Given the description of an element on the screen output the (x, y) to click on. 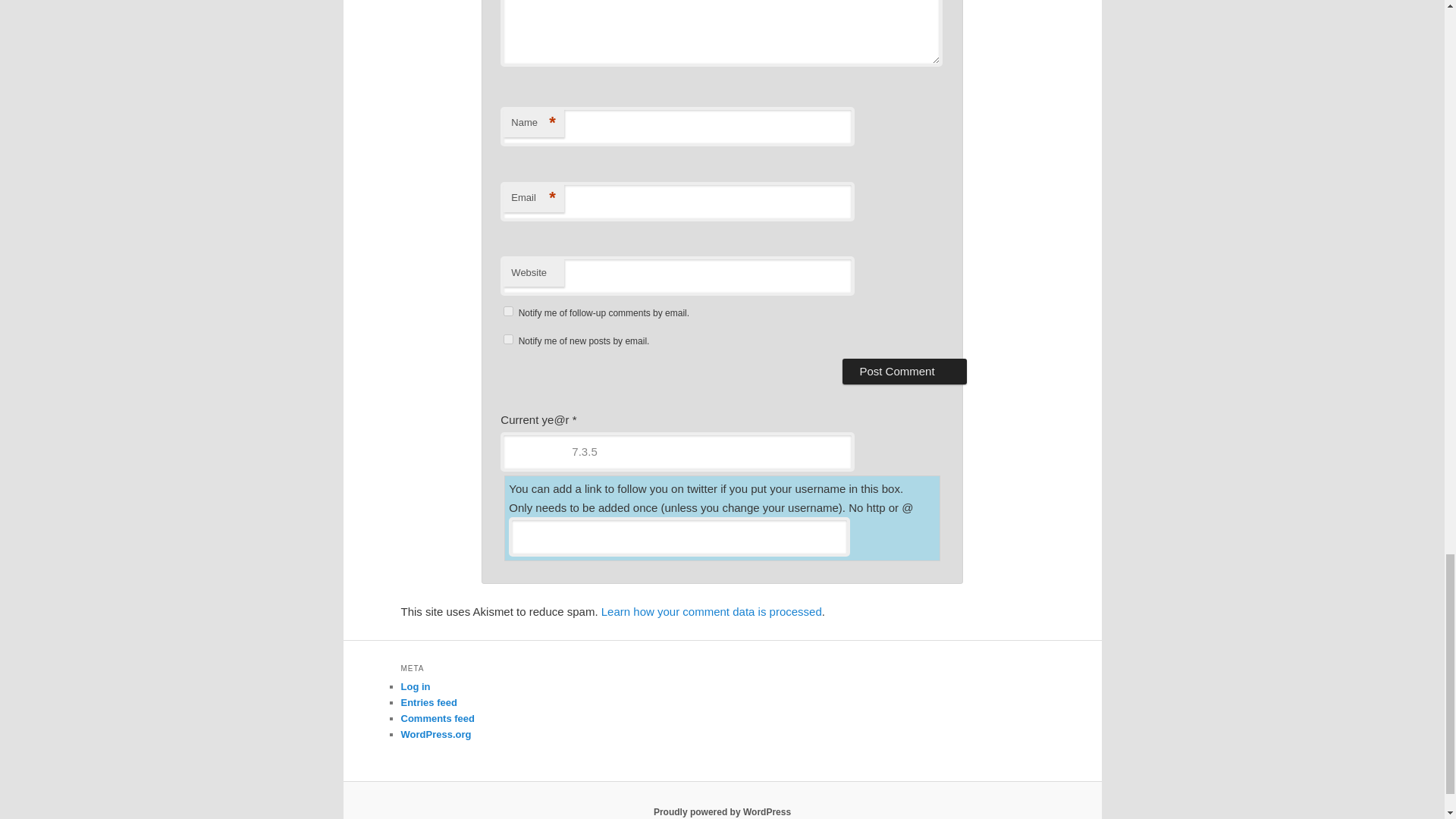
Post Comment (904, 371)
subscribe (508, 338)
Proudly powered by WordPress (721, 811)
subscribe (508, 311)
Log in (414, 686)
Learn how your comment data is processed (711, 611)
7.3.5 (676, 451)
WordPress.org (435, 734)
Comments feed (437, 717)
Post Comment (904, 371)
